Given the description of an element on the screen output the (x, y) to click on. 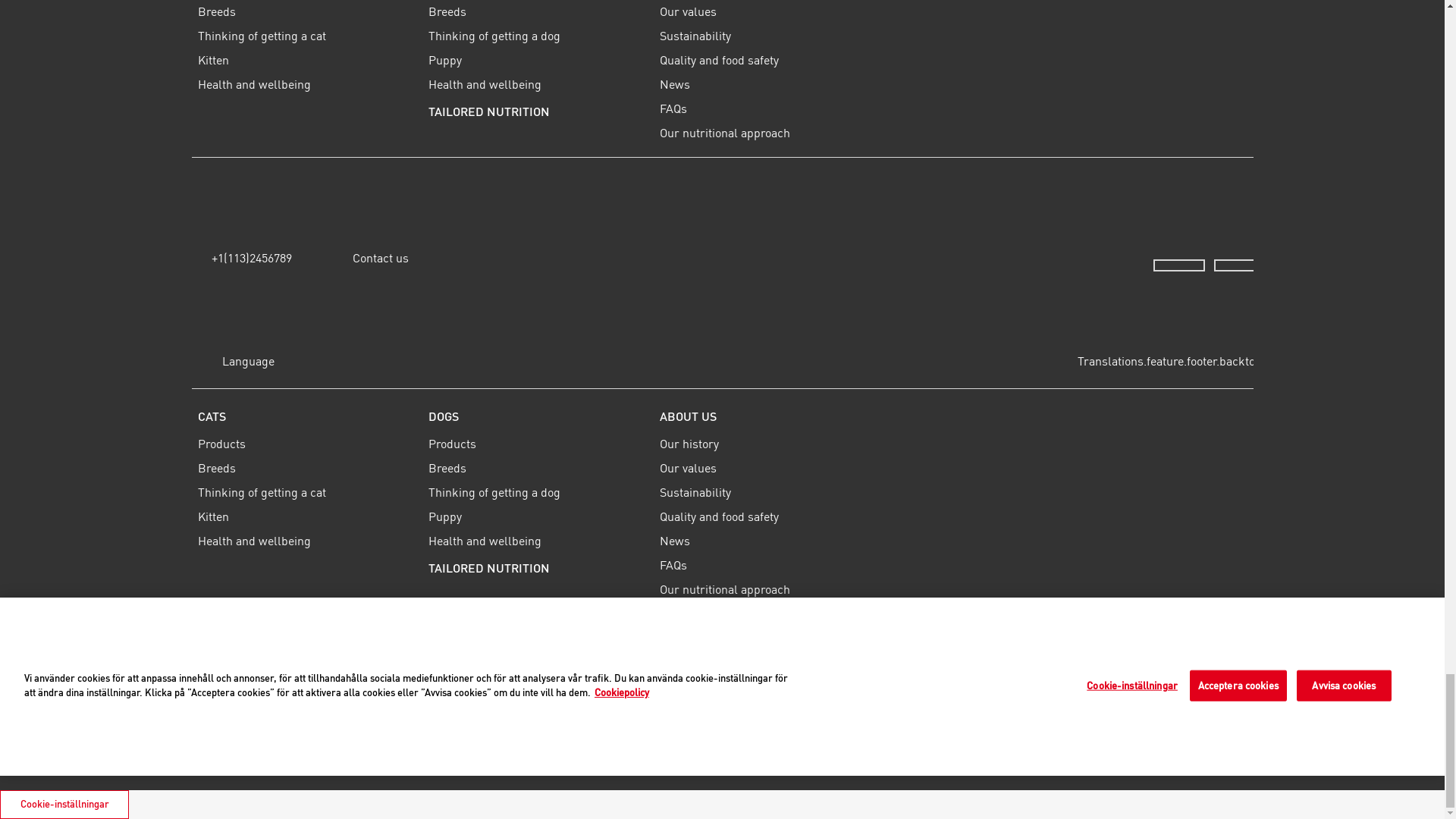
Our values (769, 11)
Contact us (374, 257)
FAQs (769, 108)
Language (231, 360)
Health and wellbeing (537, 84)
TAILORED NUTRITION (537, 111)
Thinking of getting a dog (537, 35)
CATS (306, 416)
Sustainability (769, 35)
Health and wellbeing (306, 84)
Thinking of getting a cat (306, 35)
Thinking of getting a cat (306, 491)
News (769, 84)
Breeds (537, 11)
Quality and food safety (769, 59)
